Given the description of an element on the screen output the (x, y) to click on. 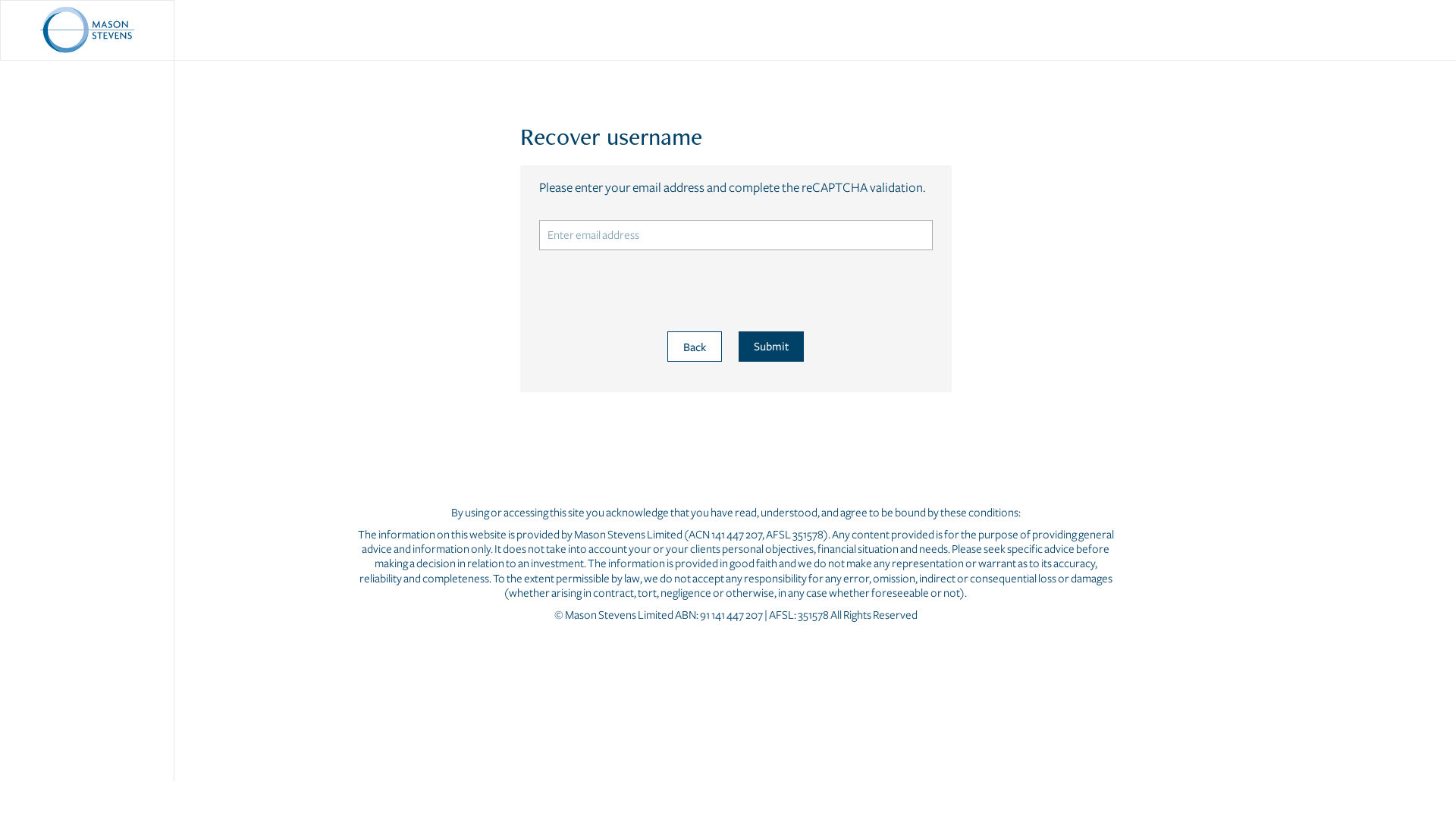
Submit Element type: text (770, 346)
Back Element type: text (694, 346)
Mason Stevens Element type: hover (87, 29)
